Given the description of an element on the screen output the (x, y) to click on. 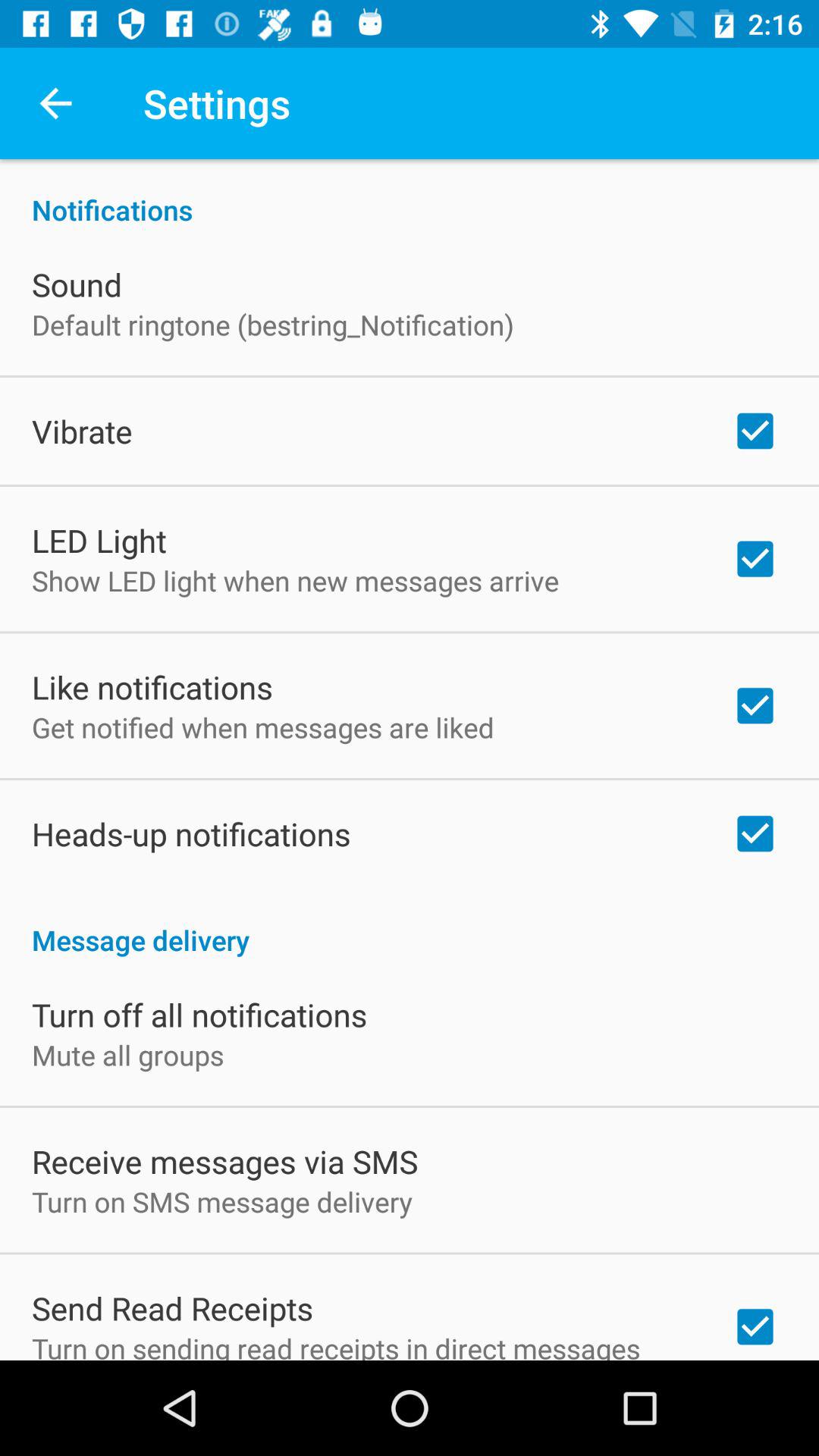
swipe until the get notified when (262, 727)
